Given the description of an element on the screen output the (x, y) to click on. 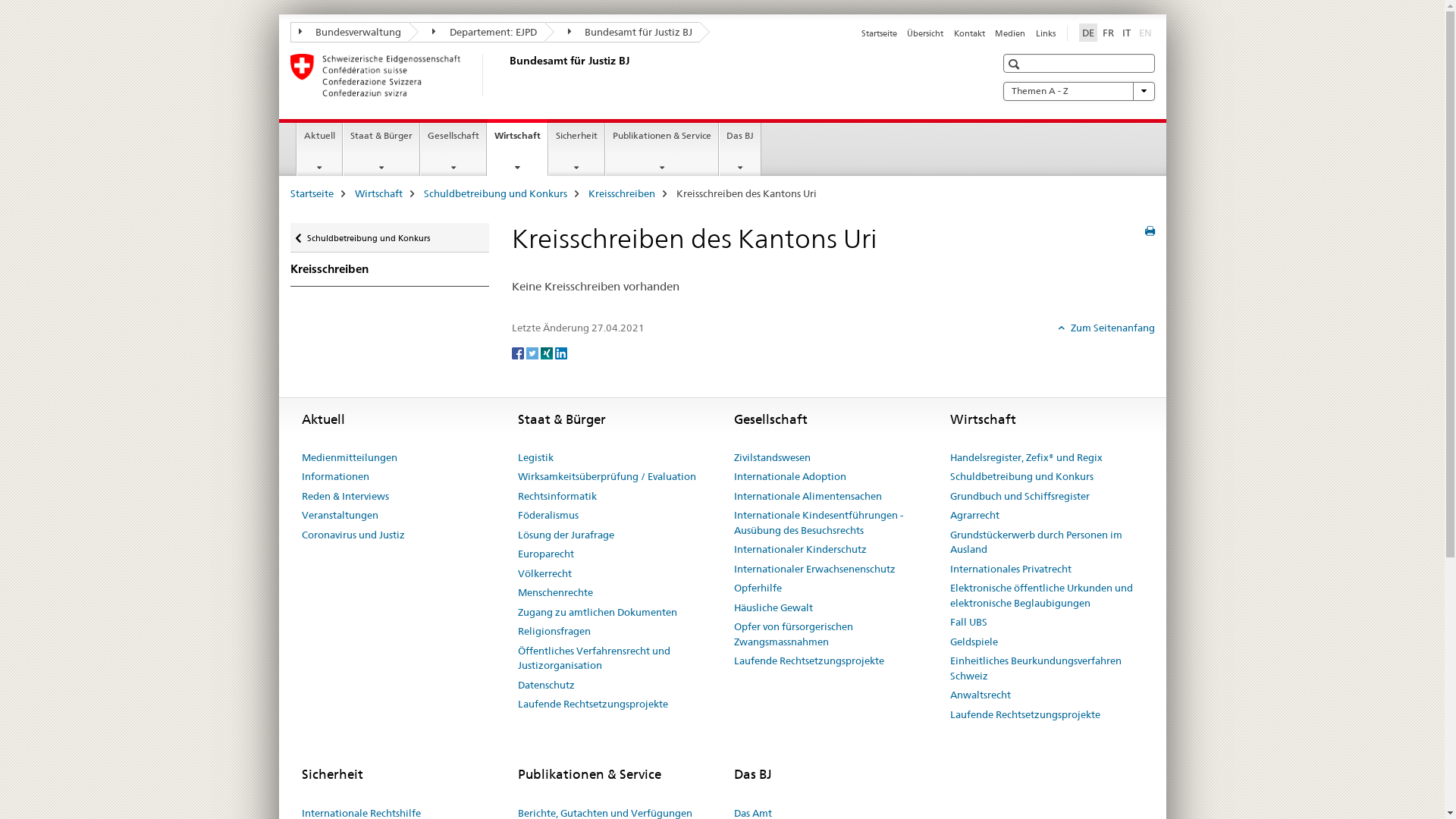
Anwaltsrecht Element type: text (979, 695)
Datenschutz Element type: text (545, 685)
Informationen Element type: text (335, 476)
Internationales Privatrecht Element type: text (1009, 569)
Medienmitteilungen Element type: text (349, 457)
Reden & Interviews Element type: text (345, 496)
Medien Element type: text (1009, 33)
Publikationen & Service Element type: text (661, 148)
Zugang zu amtlichen Dokumenten Element type: text (596, 612)
IT Element type: text (1126, 32)
Kreisschreiben Element type: text (621, 193)
Schuldbetreibung und Konkurs Element type: text (494, 193)
Kontakt Element type: text (969, 33)
Laufende Rechtsetzungsprojekte Element type: text (809, 661)
Links Element type: text (1045, 33)
Zum Seitenanfang Element type: text (1106, 327)
Startseite Element type: text (879, 33)
Bundesverwaltung Element type: text (348, 31)
Religionsfragen Element type: text (553, 631)
Europarecht Element type: text (545, 554)
Sicherheit Element type: text (576, 148)
Coronavirus und Justiz Element type: text (352, 535)
Wirtschaft
current page Element type: text (517, 147)
Seite drucken Element type: hover (1149, 230)
Rechtsinformatik Element type: text (556, 496)
Internationale Alimentensachen Element type: text (807, 496)
Fall UBS Element type: text (967, 622)
DE Element type: text (1087, 32)
Gesellschaft Element type: text (453, 148)
Aktuell Element type: text (319, 148)
Geldspiele Element type: text (973, 642)
Agrarrecht Element type: text (973, 515)
Grundbuch und Schiffsregister Element type: text (1018, 496)
Legistik Element type: text (534, 457)
Laufende Rechtsetzungsprojekte Element type: text (1024, 714)
Themen A - Z Element type: text (1078, 90)
Startseite Element type: text (310, 193)
Internationaler Kinderschutz Element type: text (800, 549)
Laufende Rechtsetzungsprojekte Element type: text (592, 704)
Schuldbetreibung und Konkurs Element type: text (1020, 476)
Internationale Adoption Element type: text (790, 476)
Internationaler Erwachsenenschutz Element type: text (814, 569)
Kreisschreiben Element type: text (389, 268)
Zivilstandswesen Element type: text (772, 457)
Das BJ Element type: text (739, 148)
Einheitliches Beurkundungsverfahren Schweiz Element type: text (1045, 668)
Veranstaltungen Element type: text (339, 515)
Wirtschaft Element type: text (378, 193)
Departement: EJPD Element type: text (476, 31)
EN
disabled Element type: text (1144, 32)
Opferhilfe Element type: text (757, 588)
FR Element type: text (1108, 32)
Menschenrechte Element type: text (554, 592)
